Given the description of an element on the screen output the (x, y) to click on. 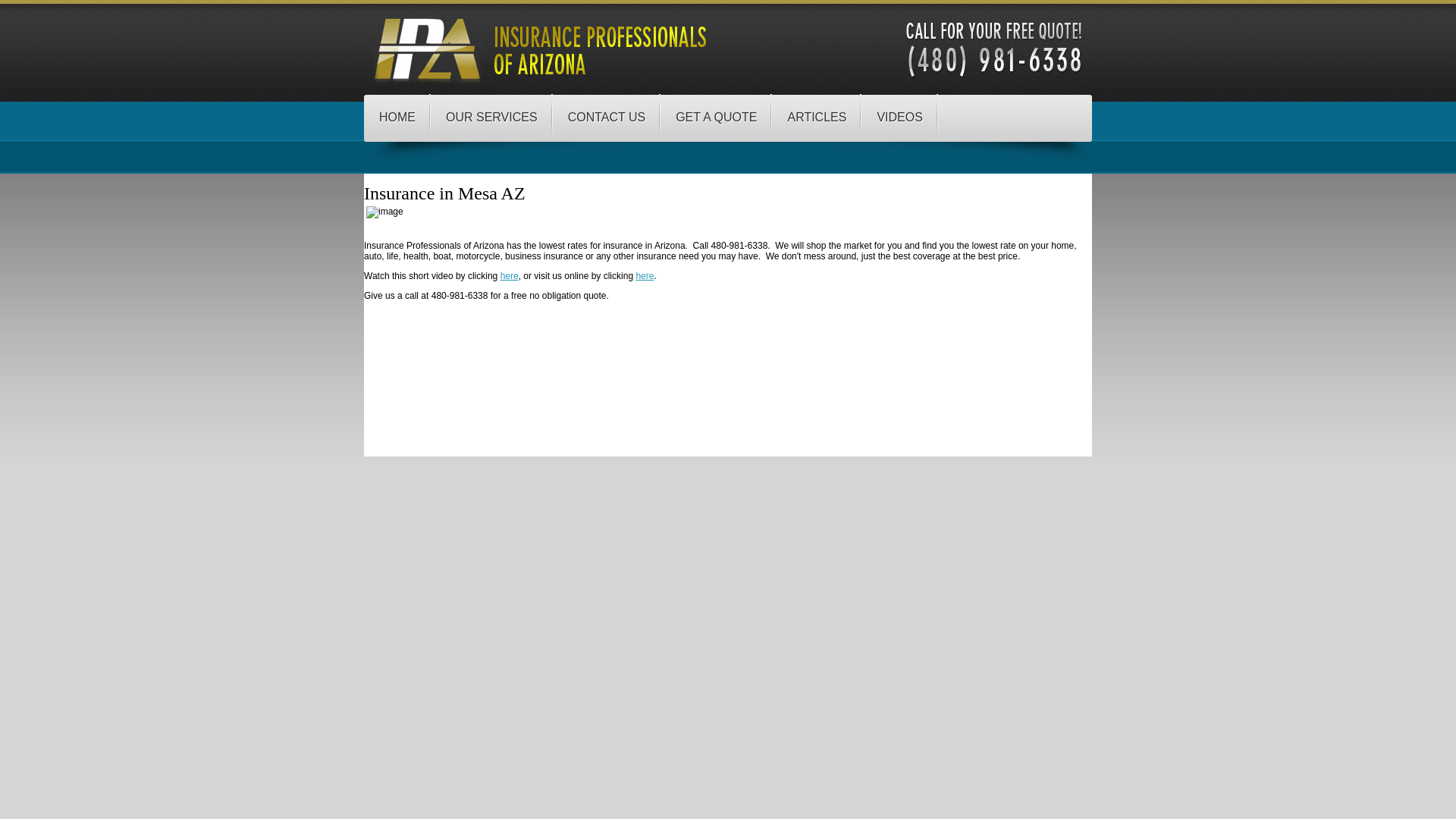
VIDEOS (899, 117)
CONTACT US (607, 117)
here (643, 276)
HOME (397, 117)
GET A QUOTE (716, 117)
OUR SERVICES (491, 117)
here (509, 276)
ARTICLES (816, 117)
